Given the description of an element on the screen output the (x, y) to click on. 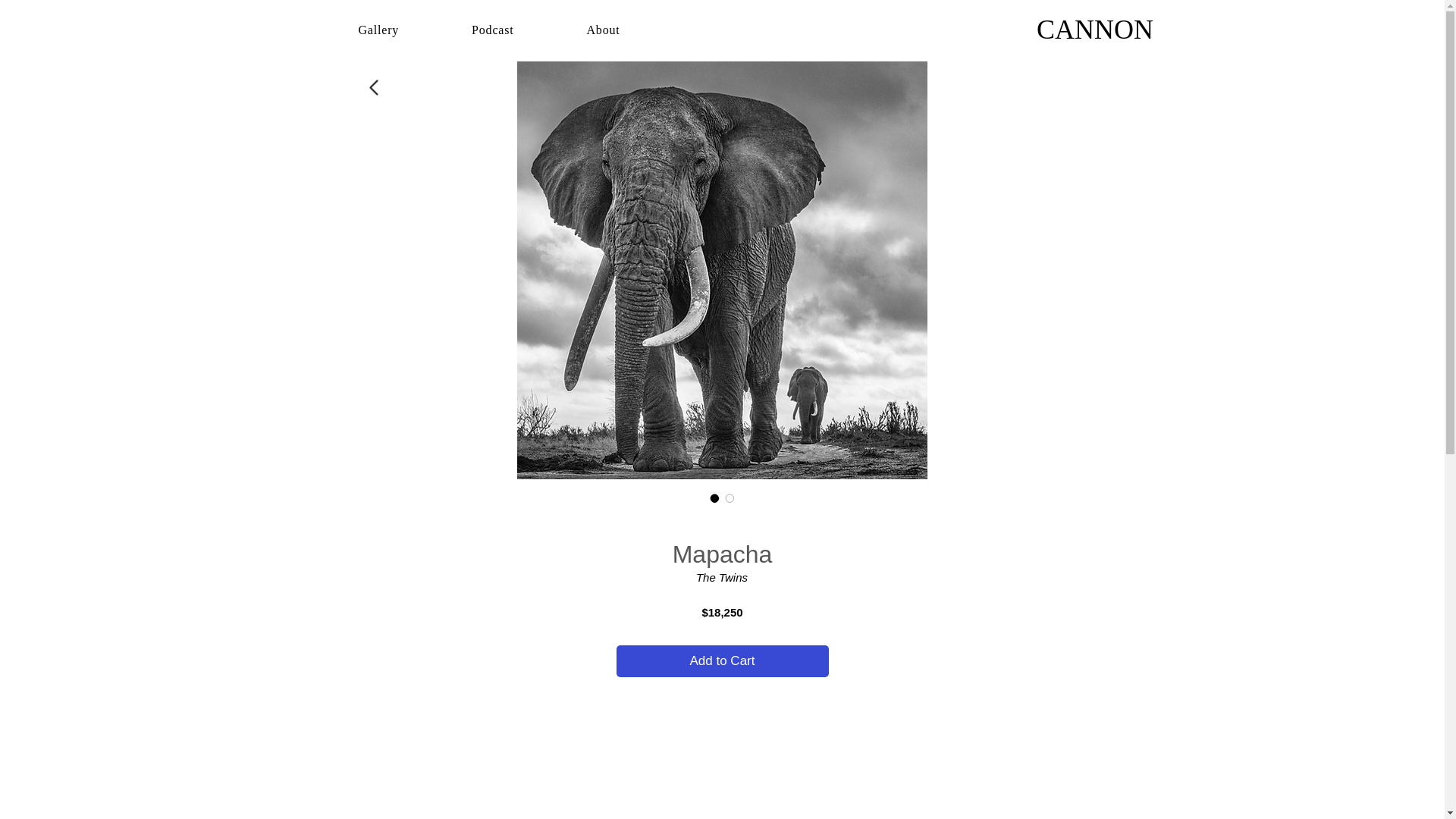
About (602, 30)
Podcast (492, 30)
Add to Cart (721, 661)
Gallery (378, 30)
CANNON (1094, 29)
